Given the description of an element on the screen output the (x, y) to click on. 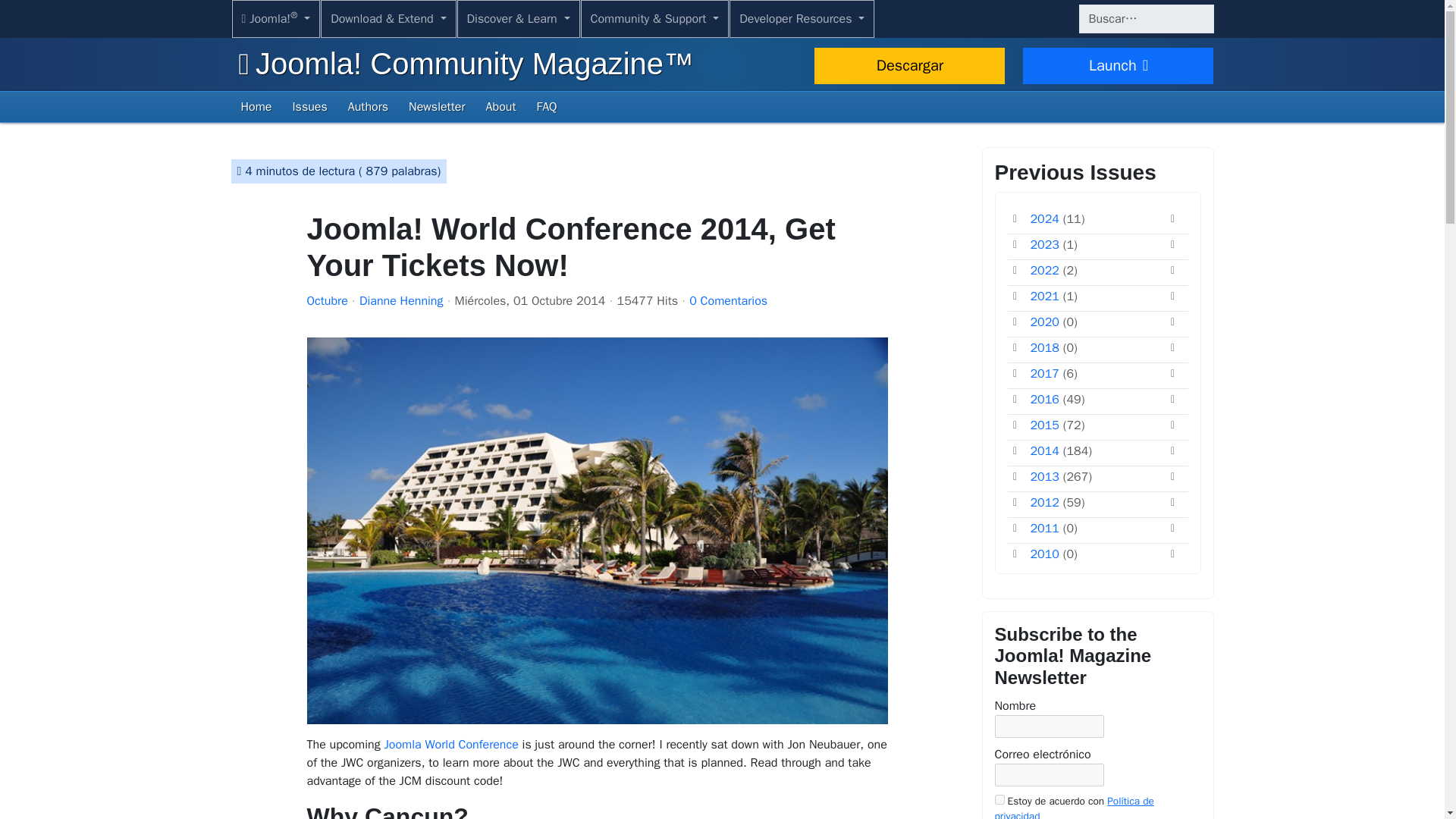
on (999, 799)
Developer Resources (802, 18)
